Given the description of an element on the screen output the (x, y) to click on. 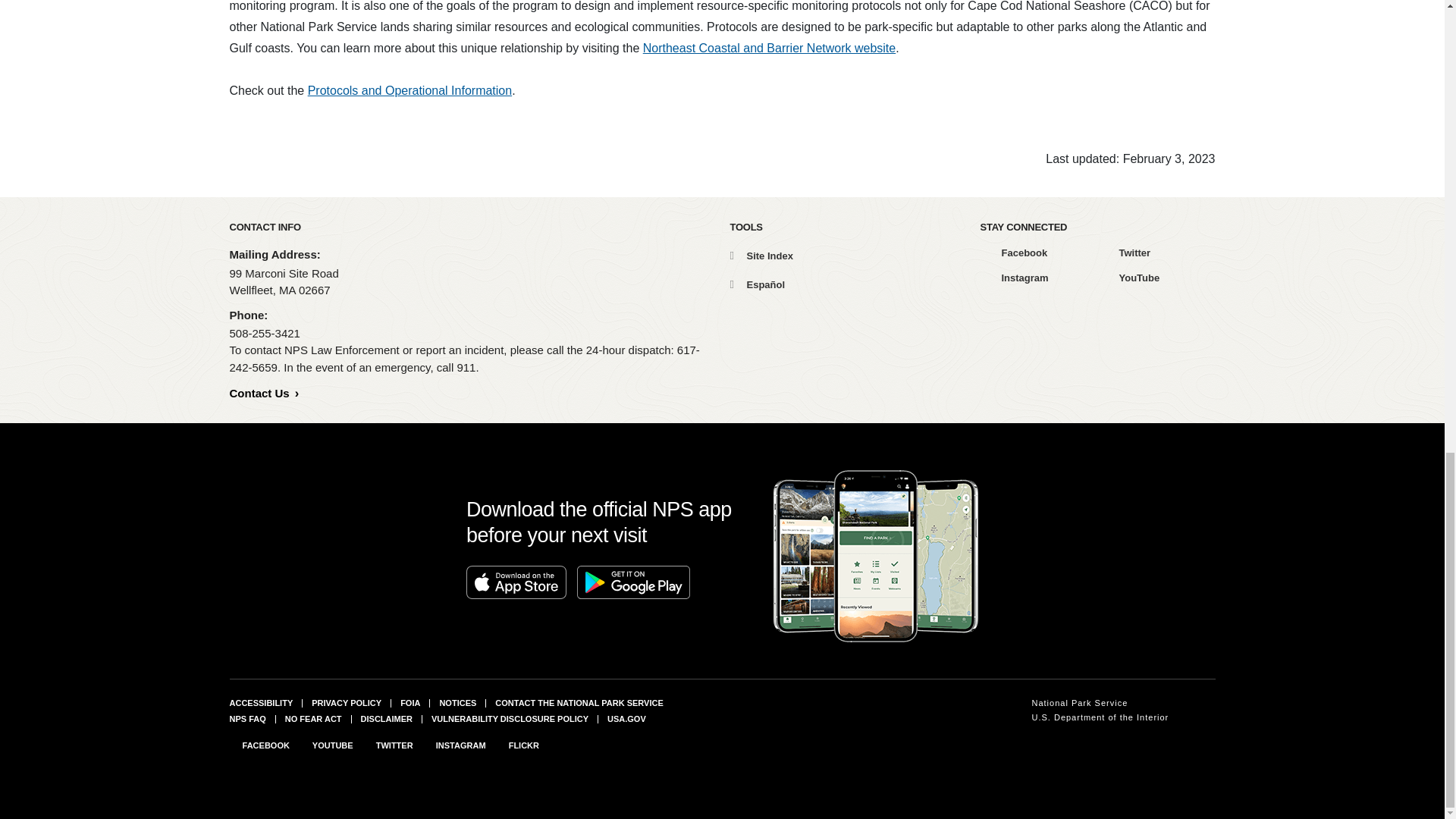
National Park Service frequently asked questions (246, 718)
